Given the description of an element on the screen output the (x, y) to click on. 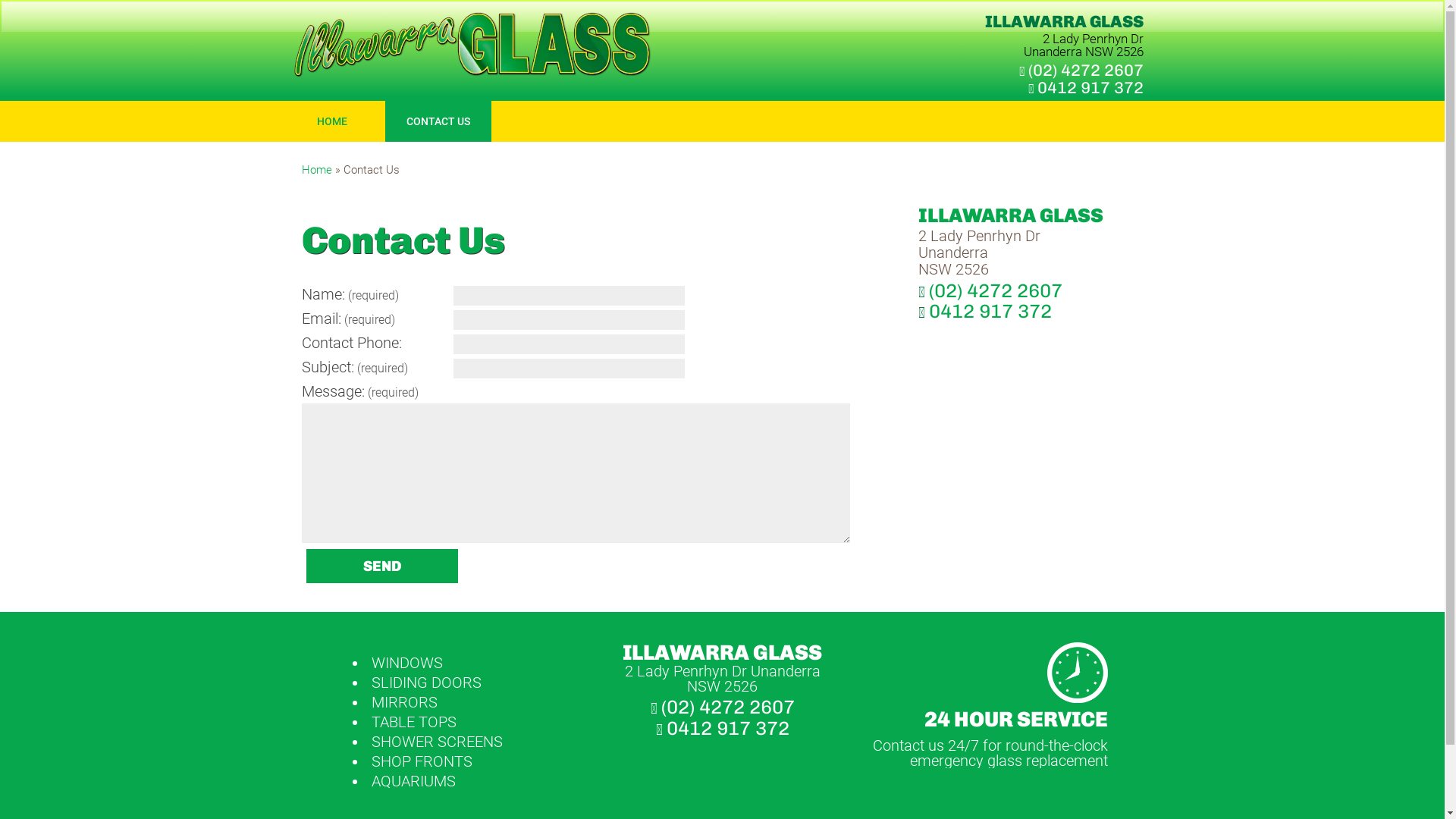
CONTACT US Element type: text (438, 120)
(02) 4272 2607 Element type: text (727, 706)
0412 917 372 Element type: text (1090, 87)
(02) 4272 2607 Element type: text (994, 290)
Send Element type: text (382, 566)
0412 917 372 Element type: text (989, 310)
0412 917 372 Element type: text (726, 727)
Home Element type: text (316, 169)
(02) 4272 2607 Element type: text (1085, 69)
HOME Element type: text (332, 120)
